Given the description of an element on the screen output the (x, y) to click on. 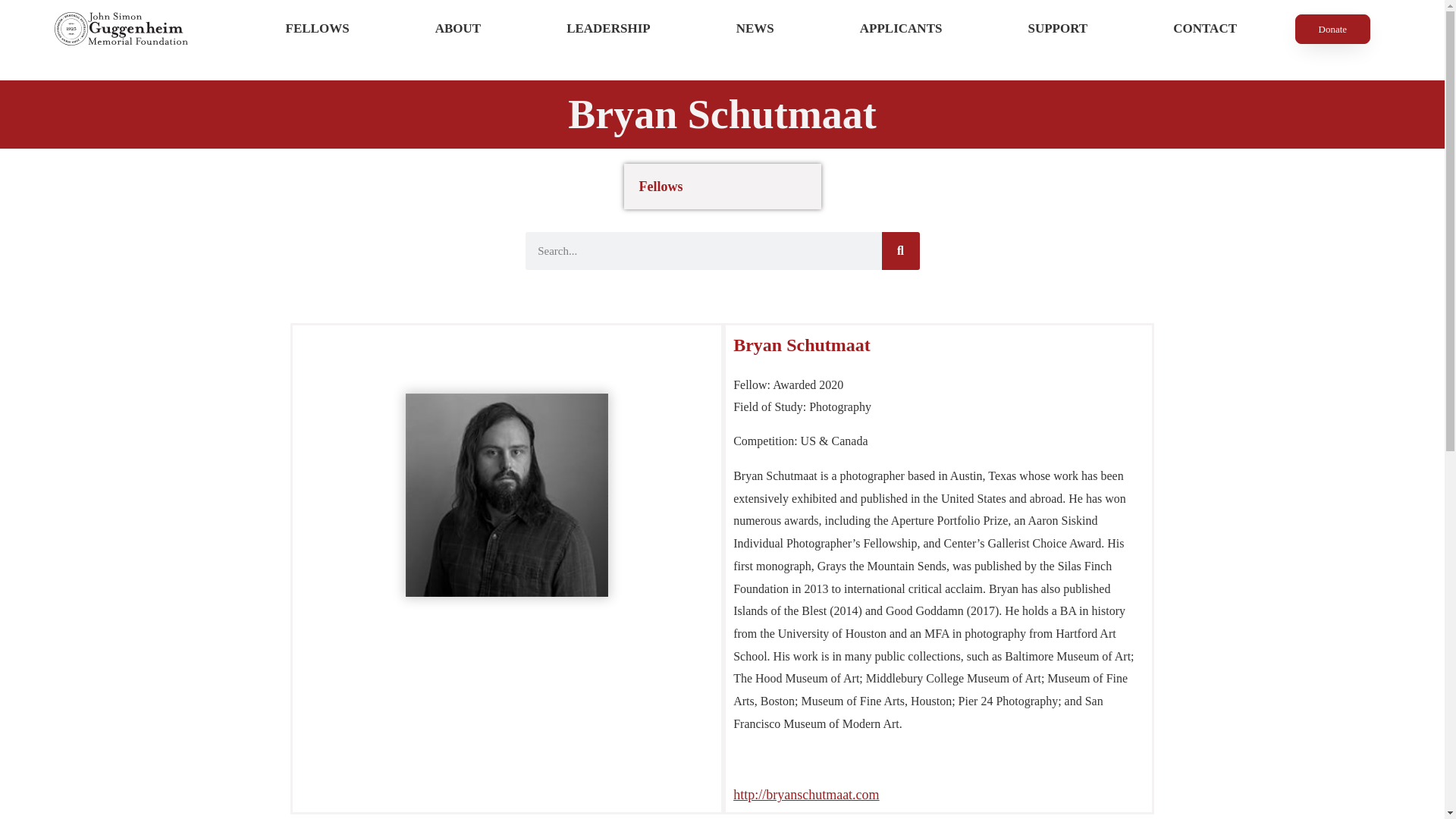
FELLOWS (317, 28)
APPLICANTS (900, 28)
LEADERSHIP (609, 28)
NEWS (754, 28)
CONTACT (1205, 28)
ABOUT (457, 28)
SUPPORT (1058, 28)
